Given the description of an element on the screen output the (x, y) to click on. 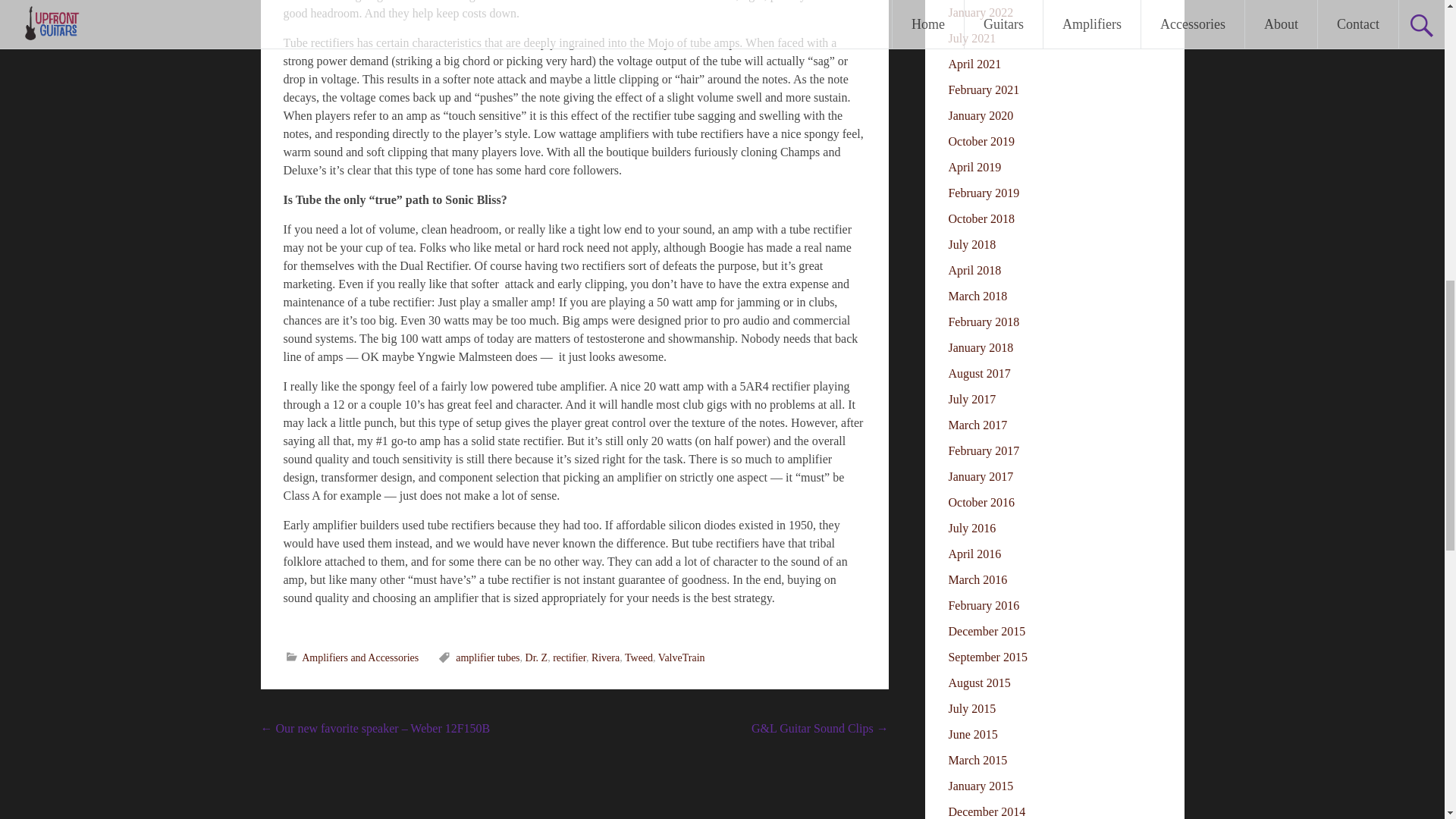
rectifier (569, 657)
January 2022 (980, 11)
February 2019 (983, 192)
February 2021 (983, 89)
April 2019 (974, 166)
July 2021 (971, 38)
Dr. Z (536, 657)
Tweed (638, 657)
Amplifiers and Accessories (360, 657)
April 2021 (974, 63)
